Given the description of an element on the screen output the (x, y) to click on. 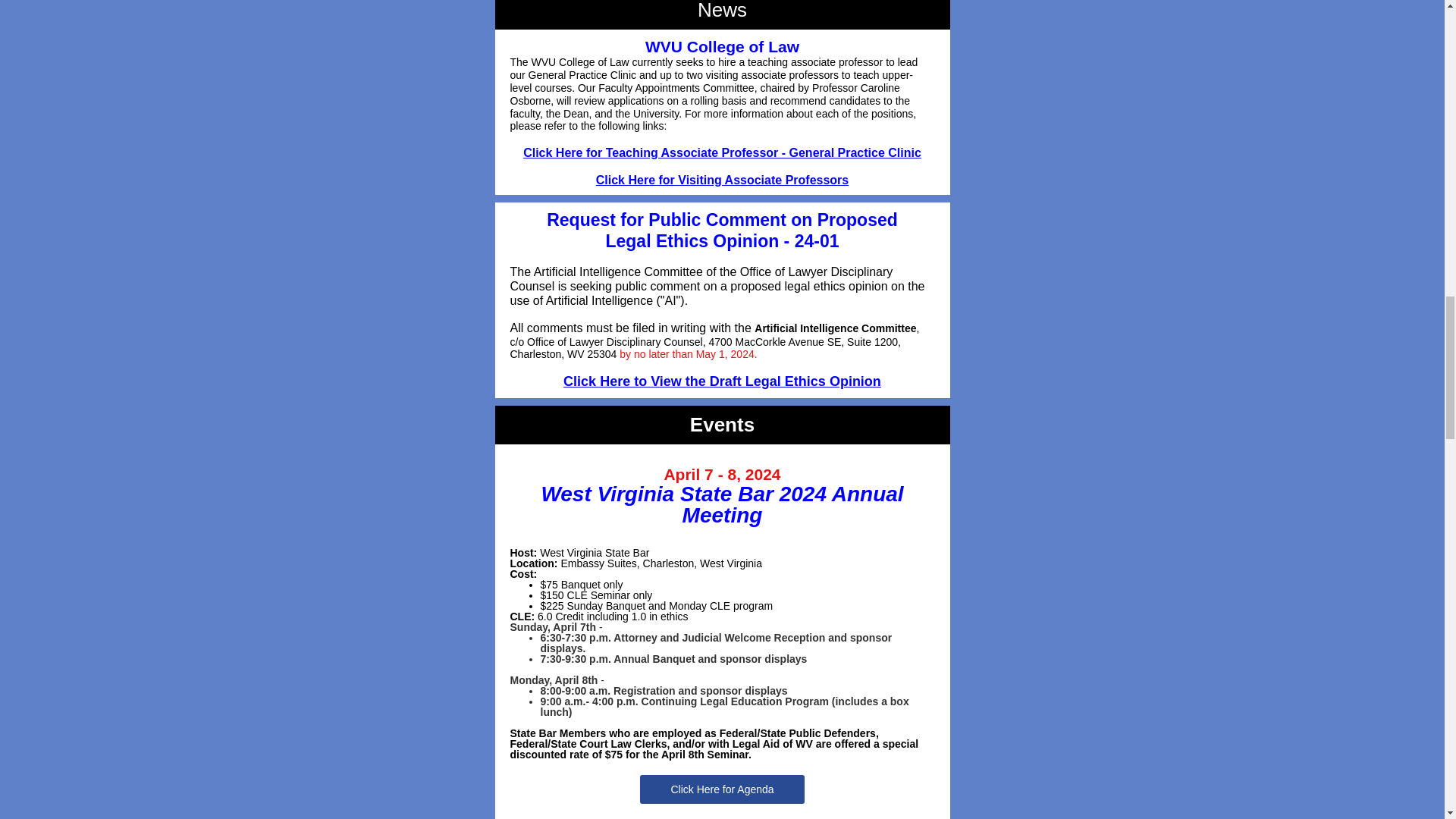
Click Here to View the Draft Legal Ethics Opinion (721, 381)
Click Here for Agenda (721, 788)
Click Here for Visiting Associate Professors (721, 179)
